Given the description of an element on the screen output the (x, y) to click on. 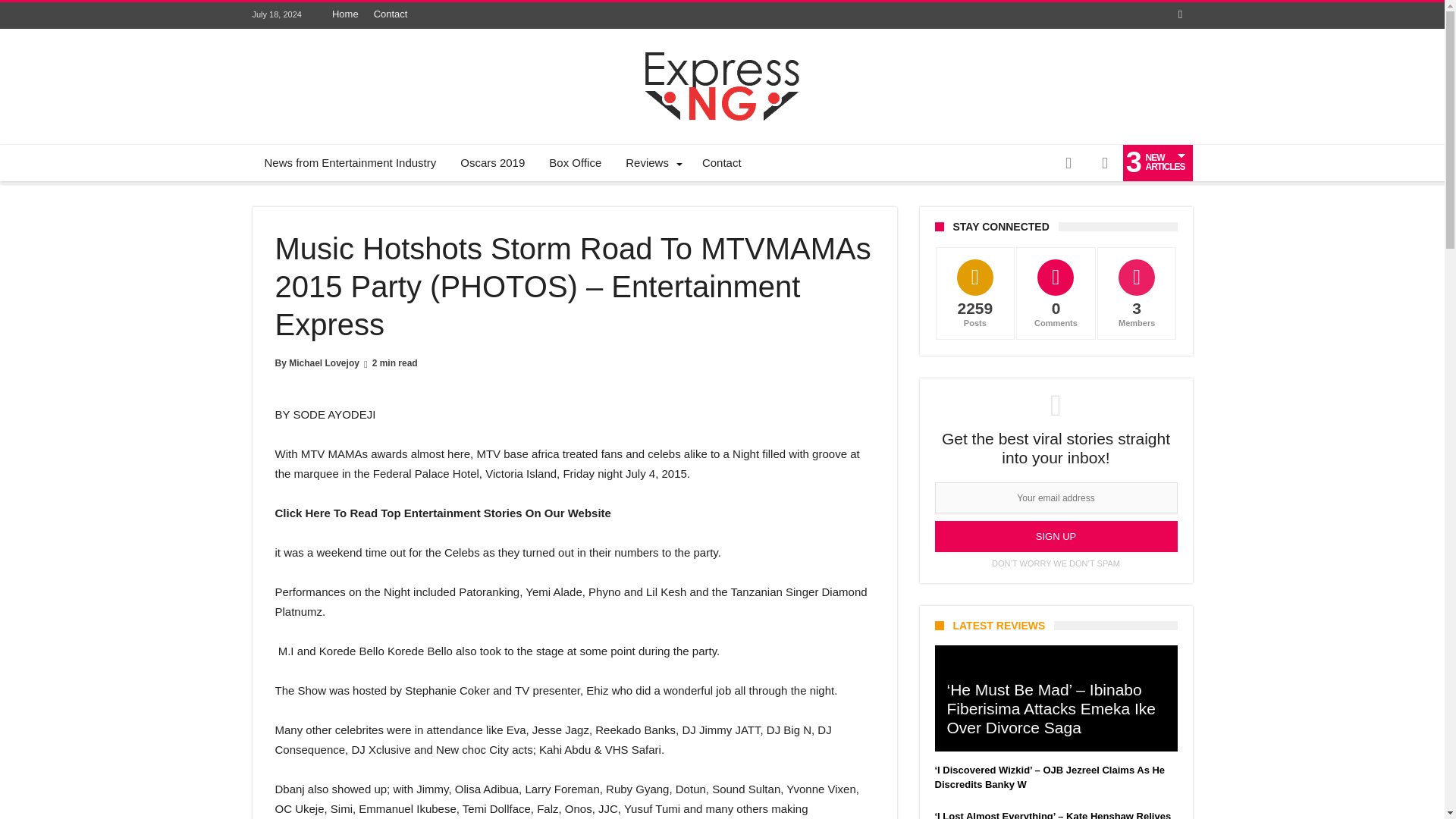
Box Office (574, 162)
Contact (390, 14)
Home (345, 14)
Contact (722, 162)
Oscars 2019 (492, 162)
Michael Lovejoy (323, 363)
Entertainment Express (722, 50)
Facebook (1179, 15)
Reviews (651, 162)
Sign up (1055, 536)
News from Entertainment Industry (349, 162)
